Given the description of an element on the screen output the (x, y) to click on. 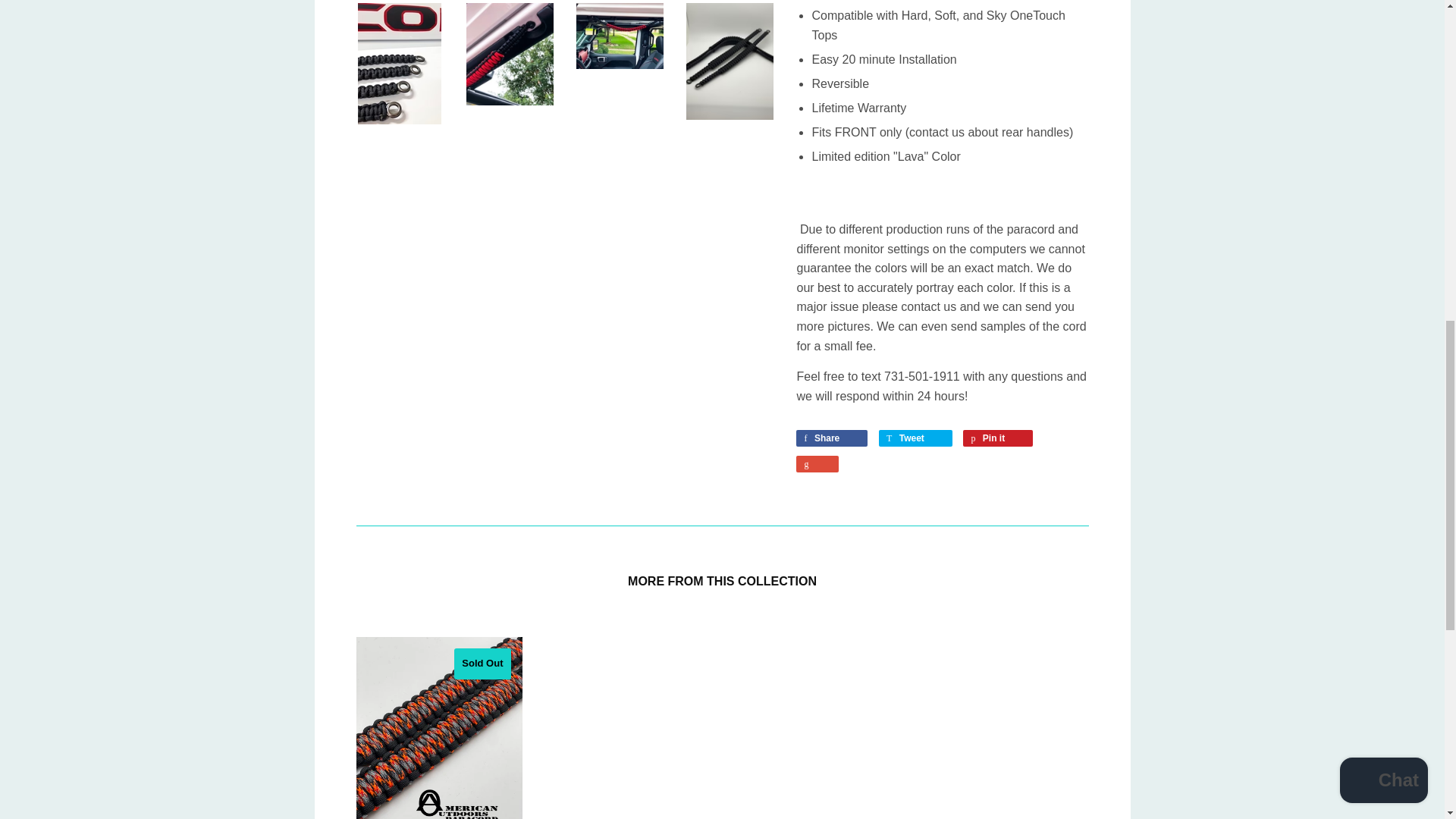
Share (831, 437)
Tweet (915, 437)
Pin it (997, 437)
